Given the description of an element on the screen output the (x, y) to click on. 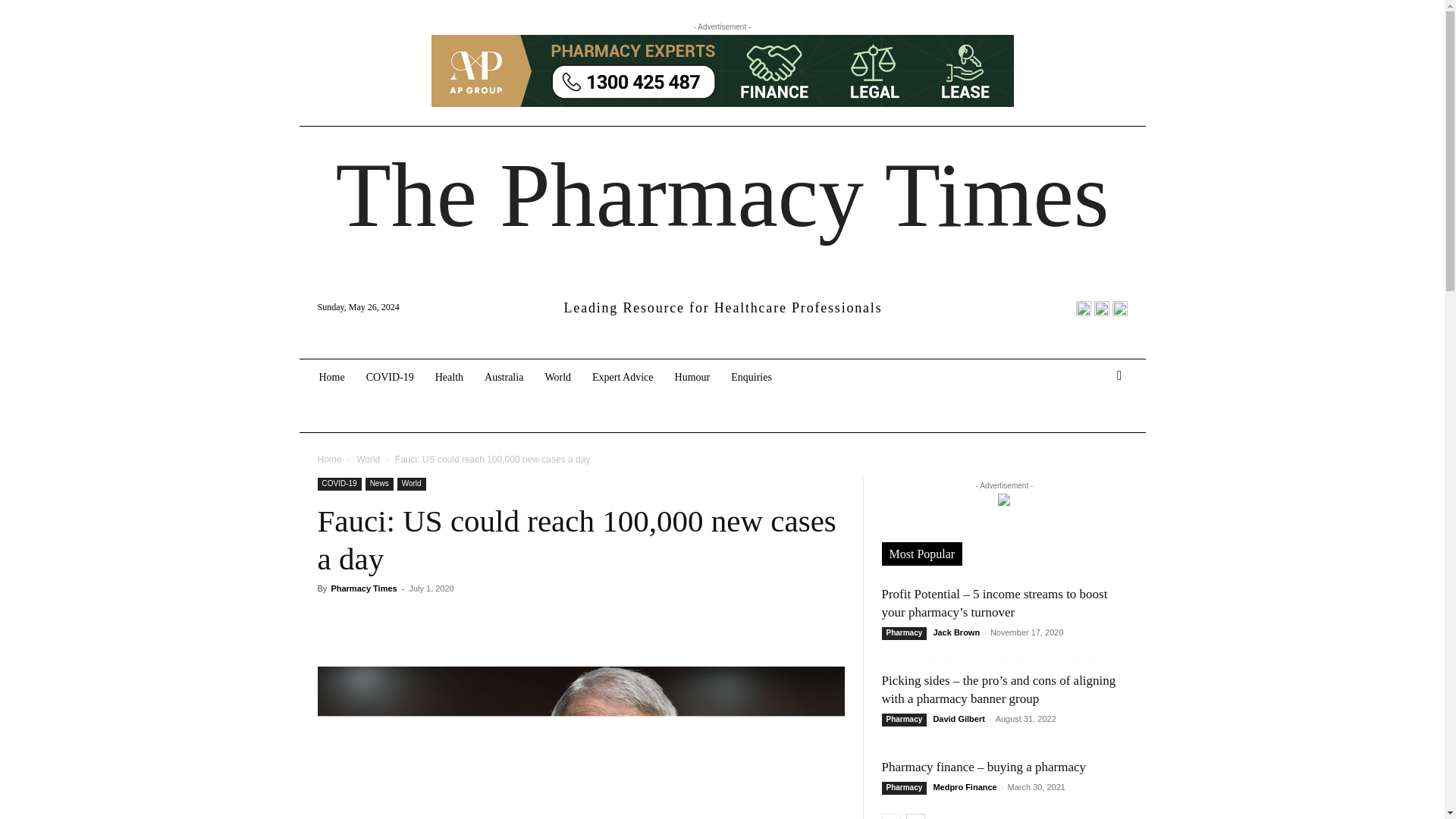
View all posts in World (368, 459)
Health (449, 377)
The Pharmacy Times (721, 195)
Humour (691, 377)
Home (331, 377)
Leading Resource for Healthcare Professionals (722, 307)
Enquiries (751, 377)
Expert Advice (621, 377)
COVID-19 (390, 377)
World (557, 377)
